Given the description of an element on the screen output the (x, y) to click on. 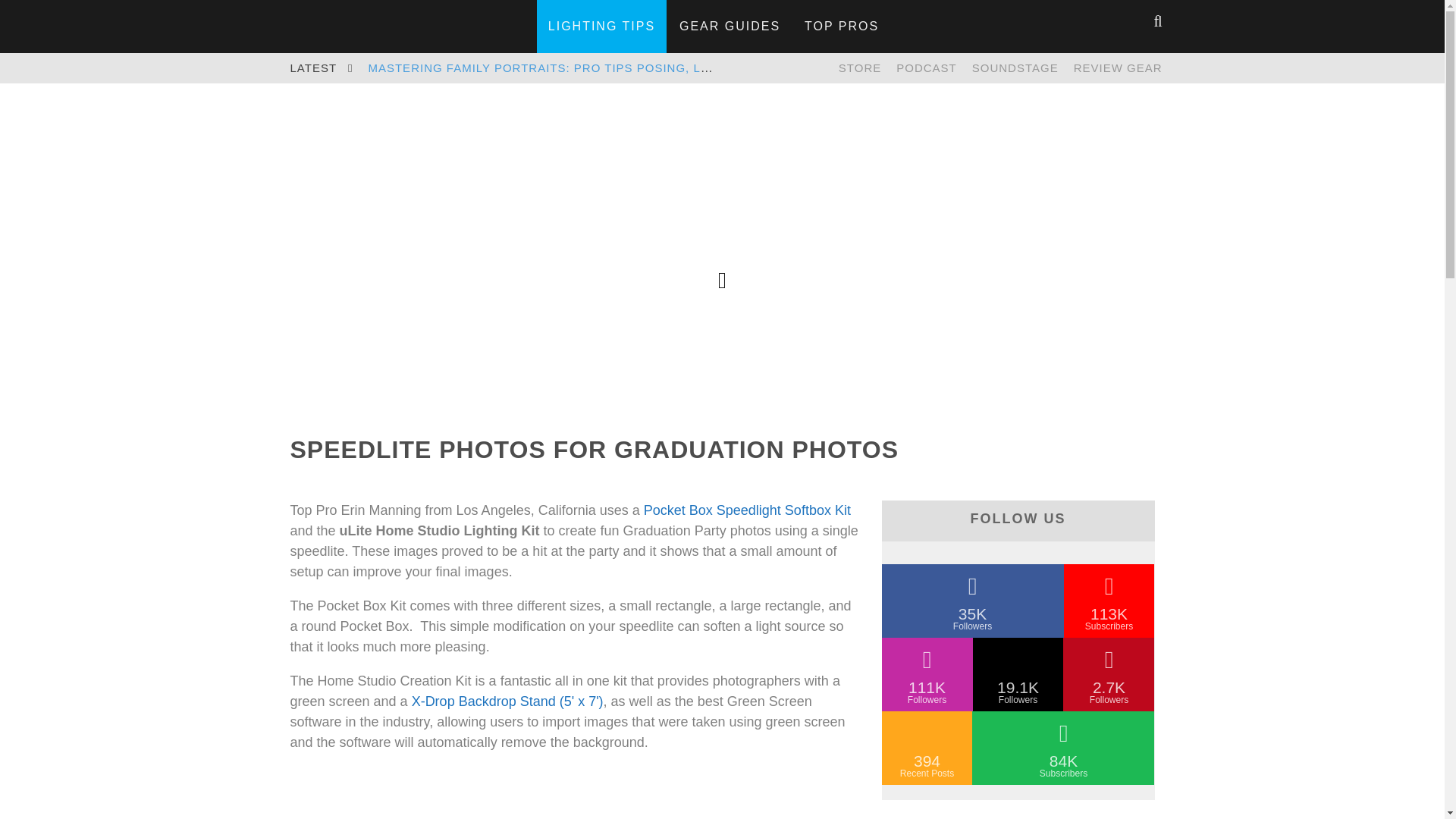
LIGHTING TIPS (601, 26)
GEAR GUIDES (730, 26)
Westcott Lighting Products (859, 68)
